Given the description of an element on the screen output the (x, y) to click on. 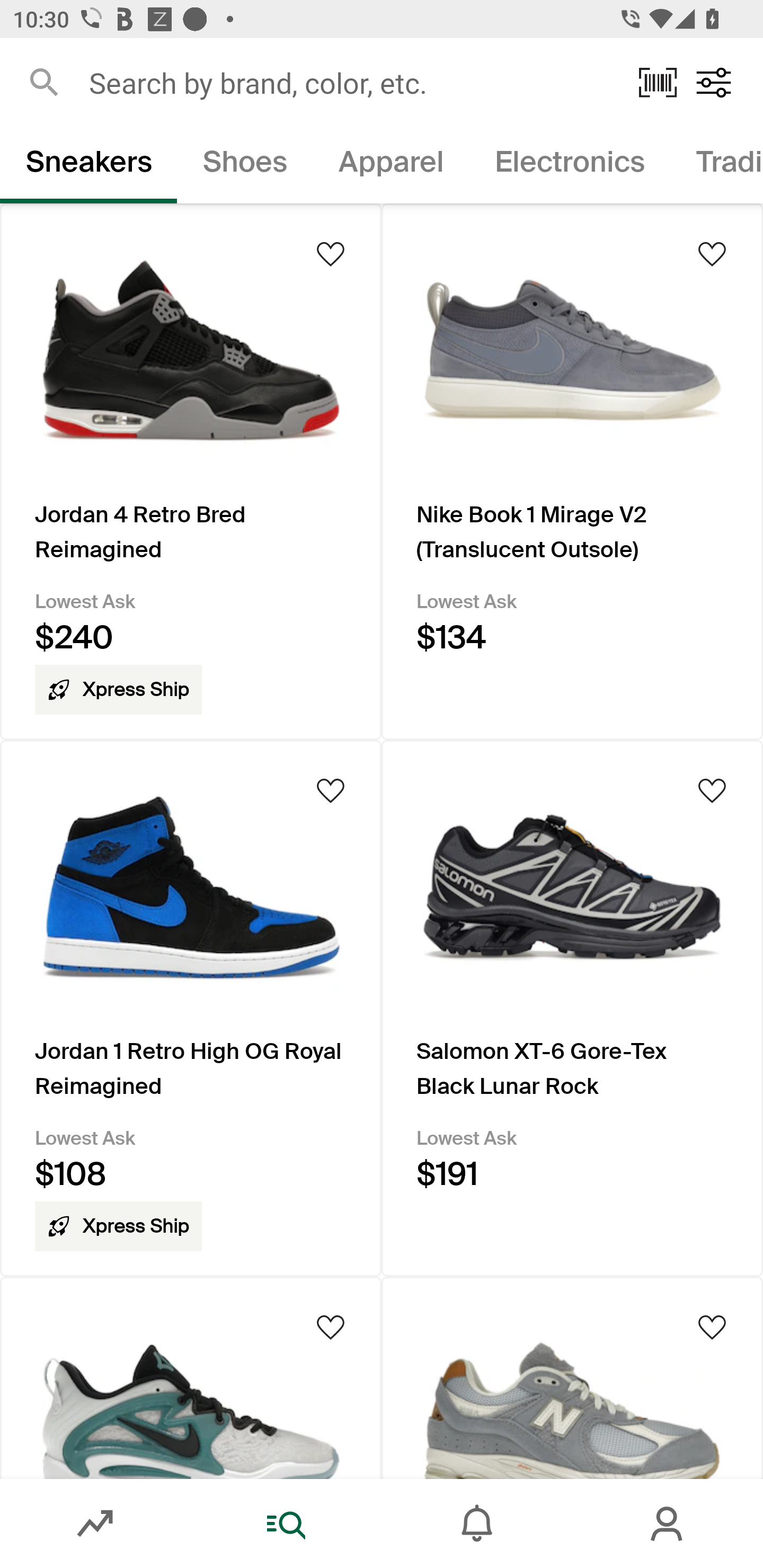
Search by brand, color, etc. (351, 82)
Shoes (244, 165)
Apparel (390, 165)
Electronics (569, 165)
Trading Cards (716, 165)
Product Image (190, 1377)
Product Image (572, 1377)
Market (95, 1523)
Inbox (476, 1523)
Account (667, 1523)
